Given the description of an element on the screen output the (x, y) to click on. 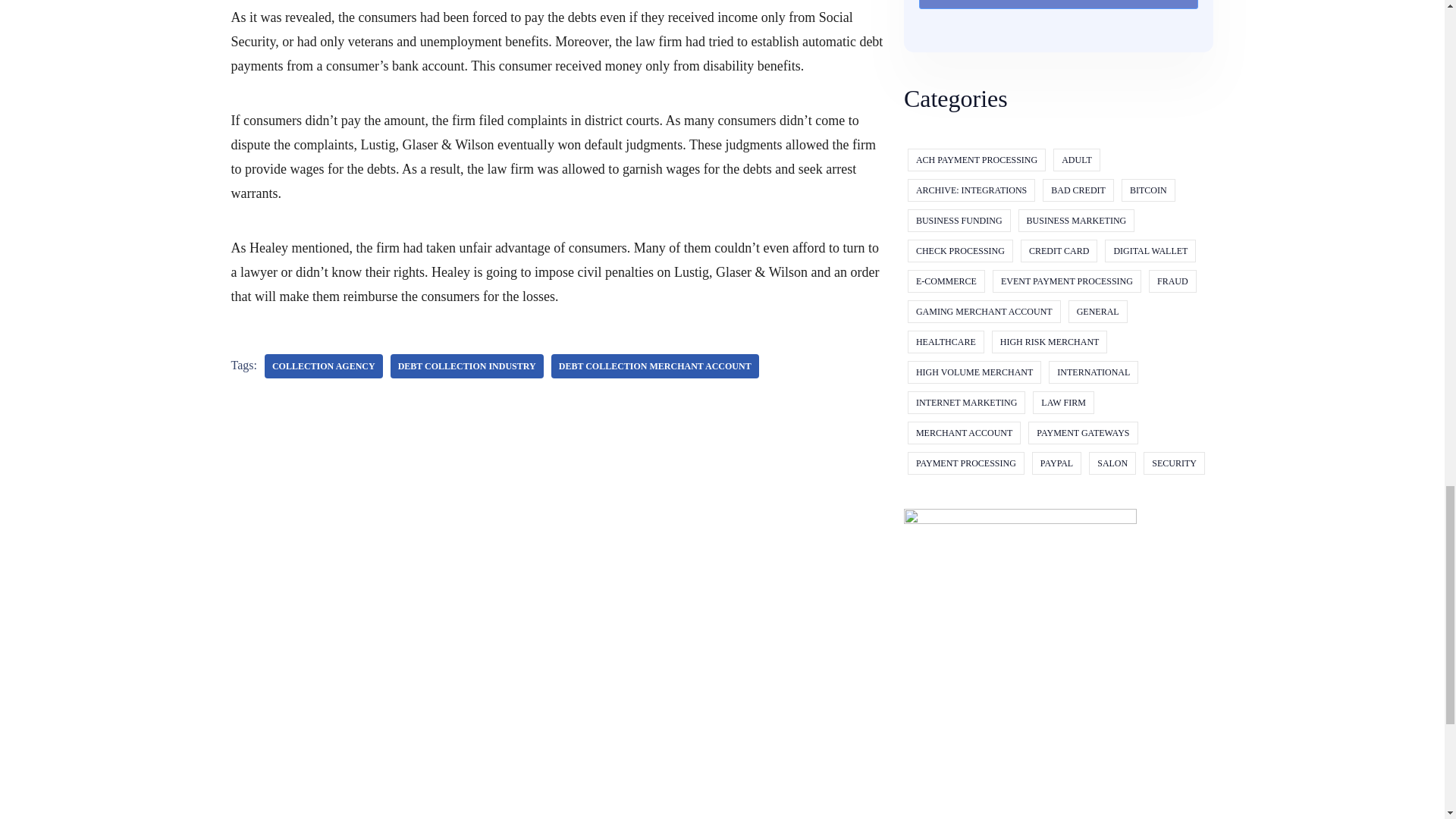
Debt collection industry (466, 365)
Collection Agency (323, 365)
debt collection merchant account (654, 365)
